Given the description of an element on the screen output the (x, y) to click on. 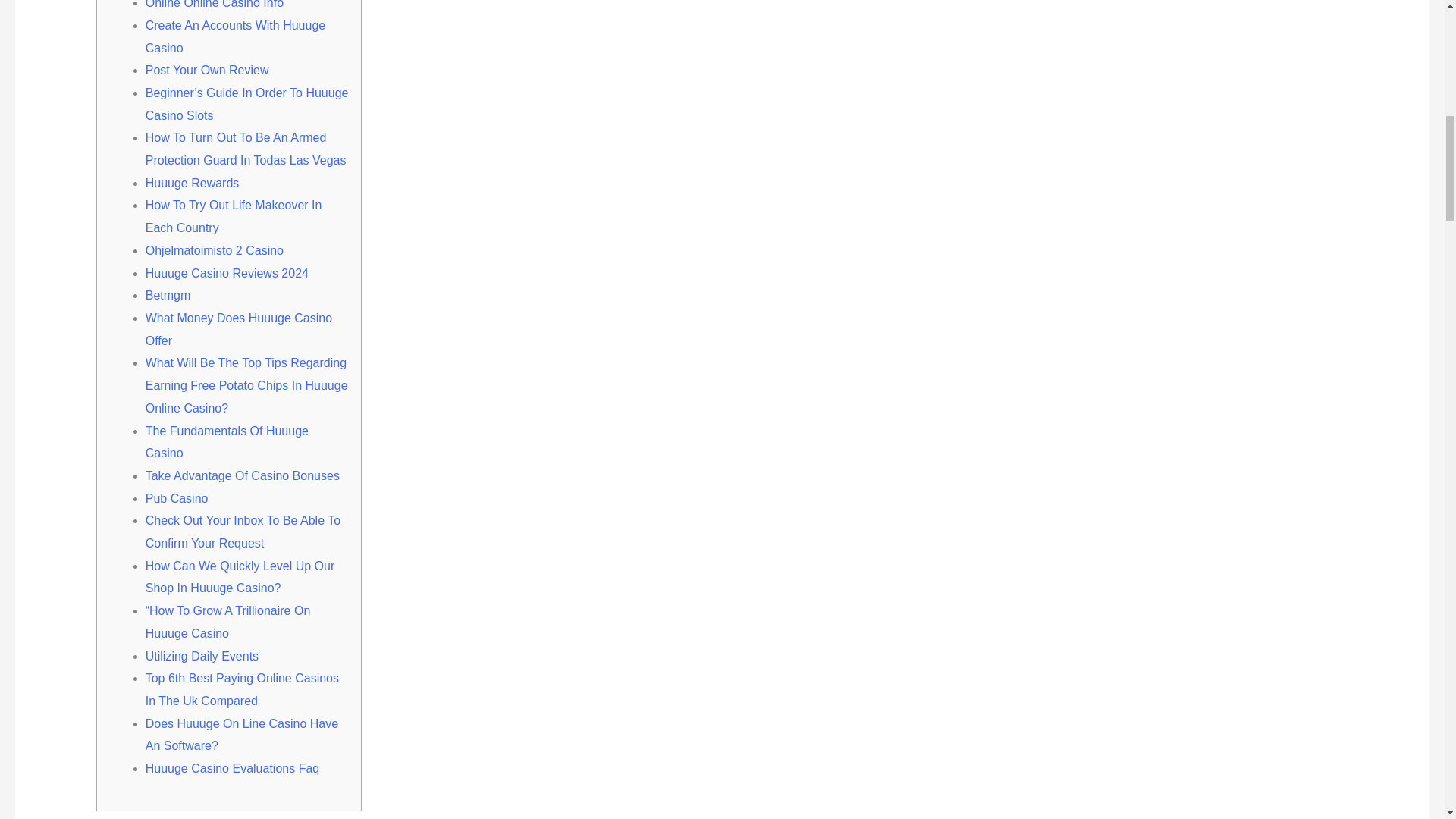
Create An Accounts With Huuuge Casino (234, 36)
Post Your Own Review (207, 69)
Online Online Casino Info (214, 4)
